Given the description of an element on the screen output the (x, y) to click on. 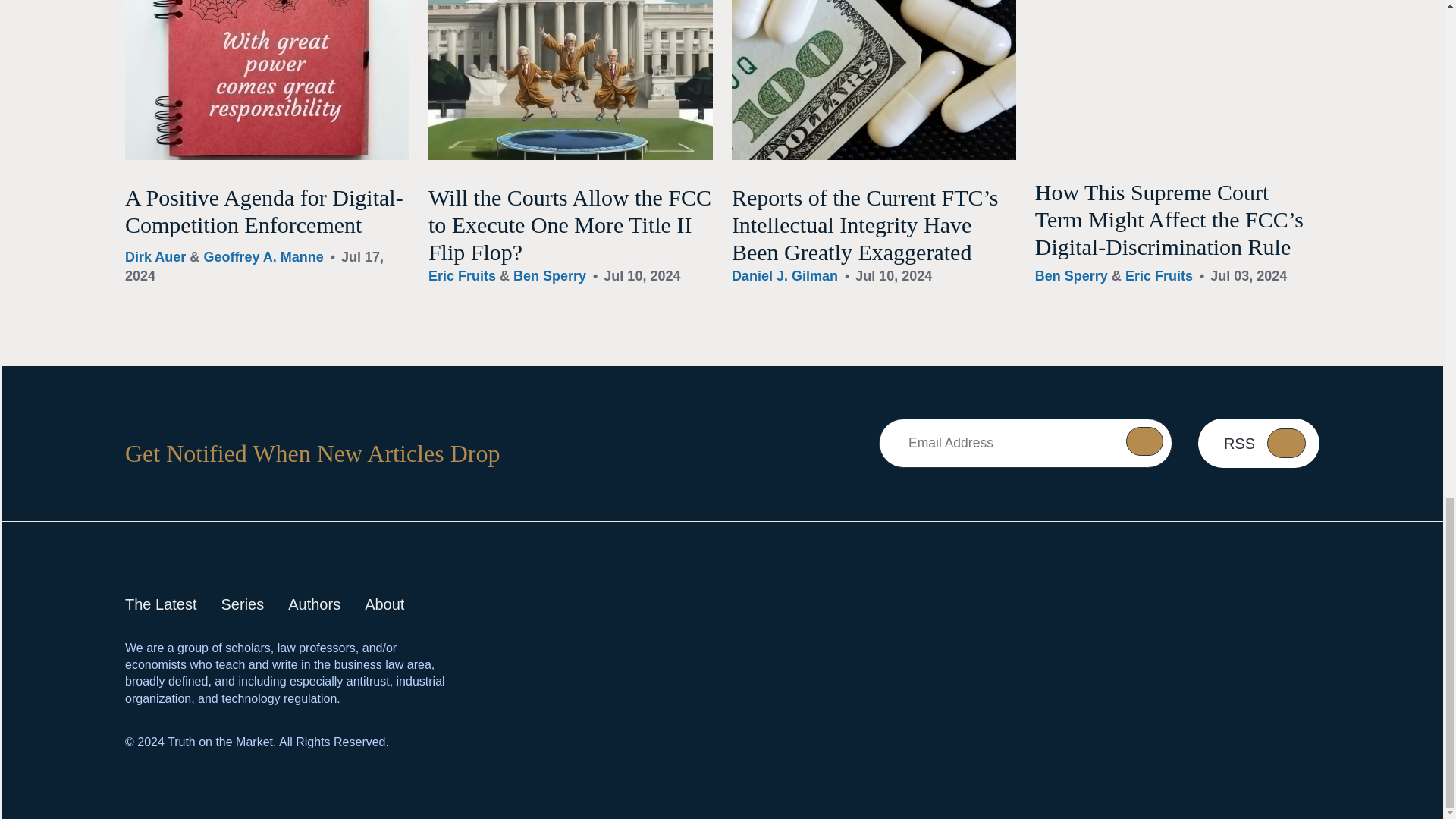
Geoffrey A. Manne (263, 256)
Dirk Auer (155, 256)
Ben Sperry (549, 275)
Eric Fruits (462, 275)
A Positive Agenda for Digital-Competition Enforcement (264, 211)
